Given the description of an element on the screen output the (x, y) to click on. 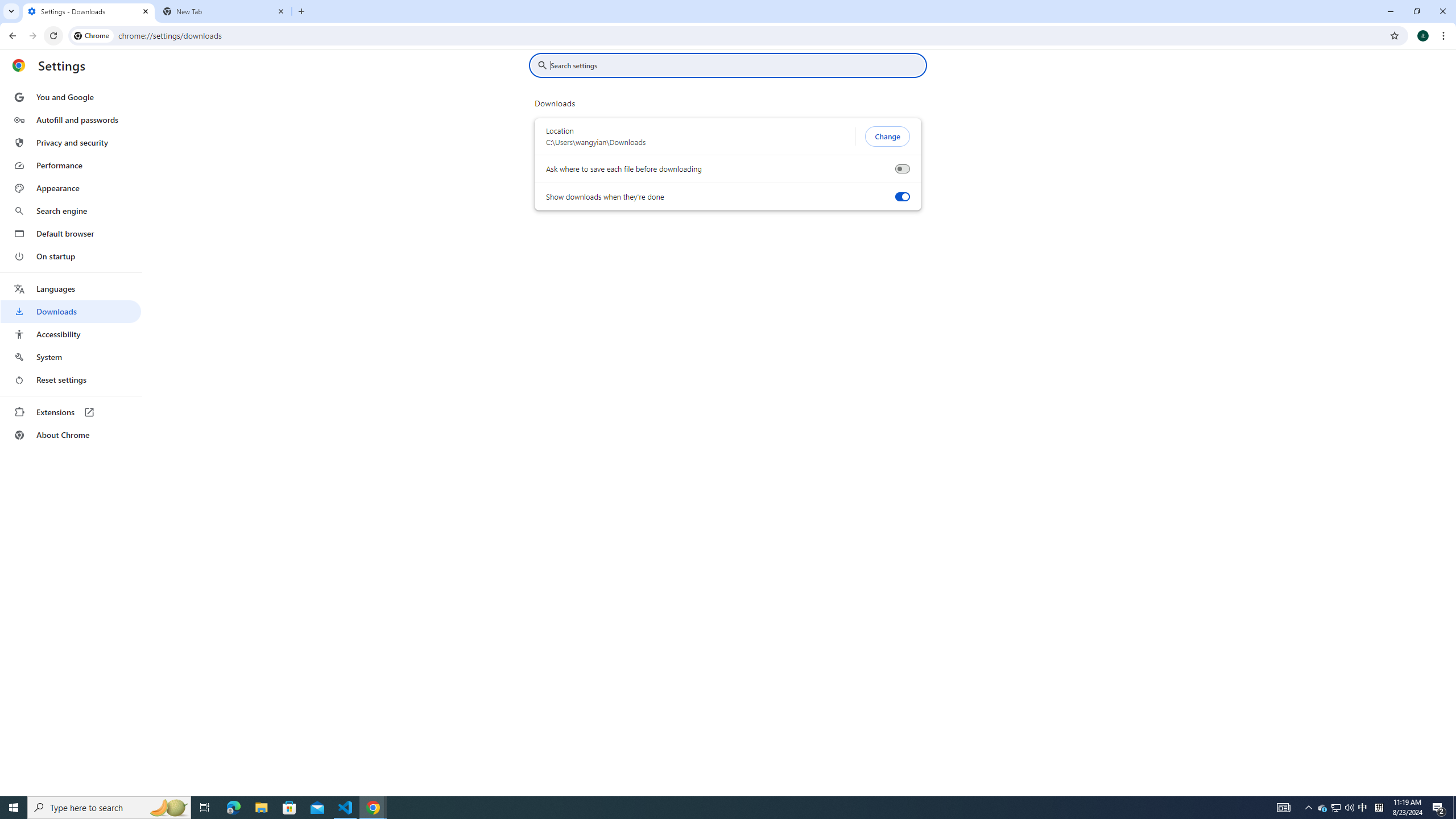
Downloads (70, 311)
Languages (70, 288)
Autofill and passwords (70, 119)
Privacy and security (70, 142)
